Given the description of an element on the screen output the (x, y) to click on. 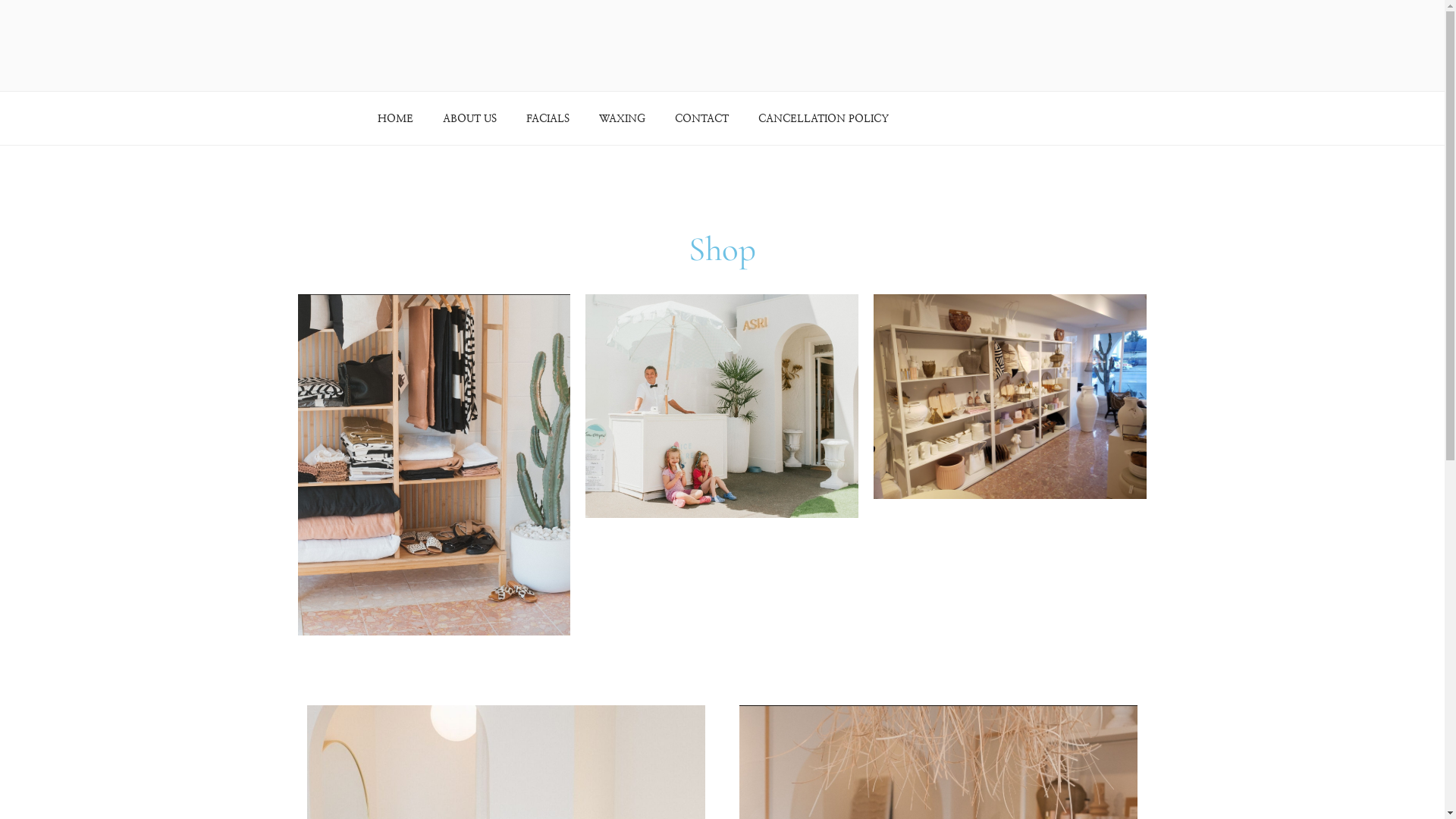
FACIALS Element type: text (547, 118)
WAXING Element type: text (621, 118)
ABOUT US Element type: text (469, 118)
CONTACT Element type: text (701, 118)
CANCELLATION POLICY Element type: text (822, 118)
HOME Element type: text (395, 118)
